Given the description of an element on the screen output the (x, y) to click on. 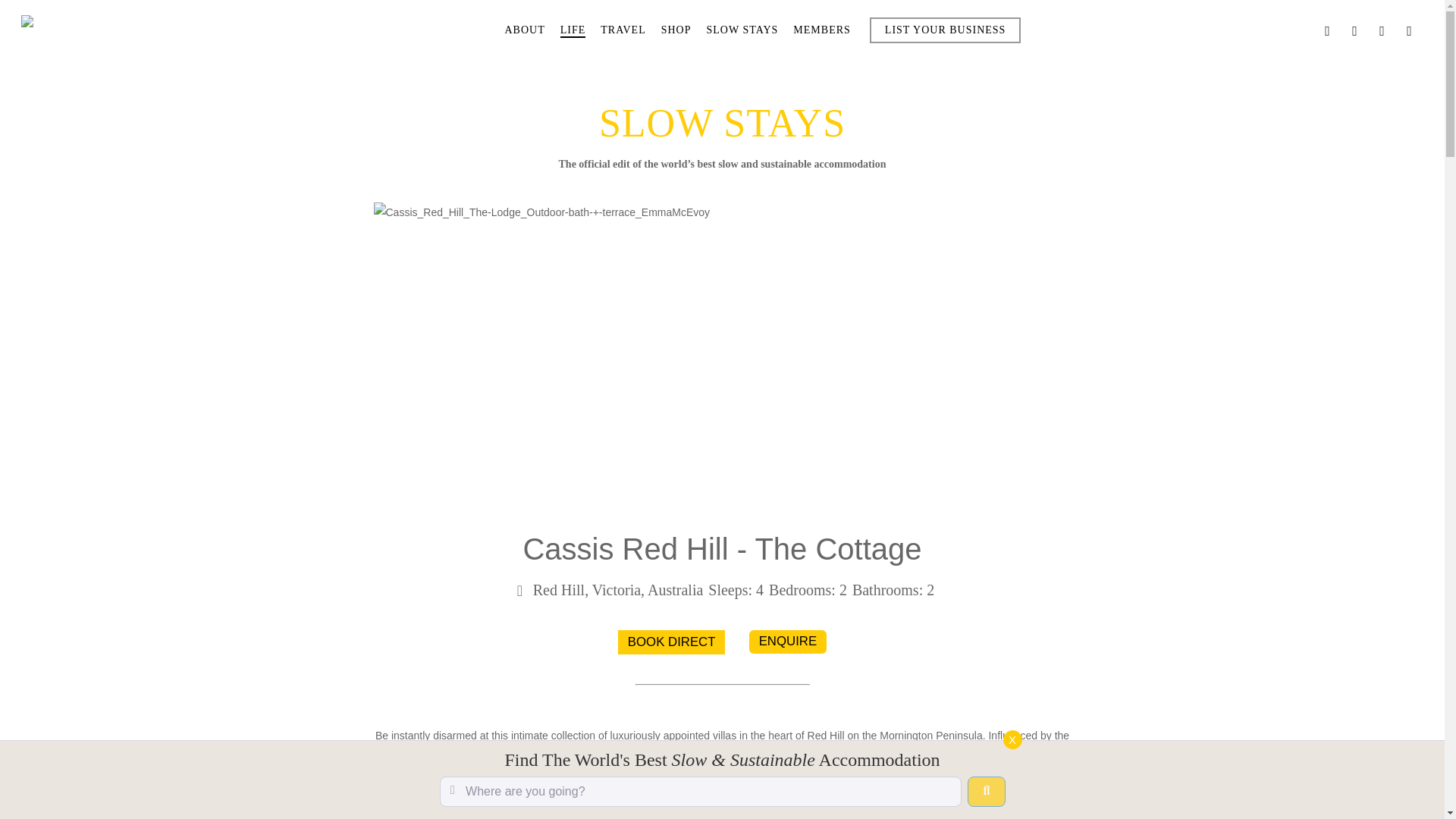
TRAVEL (622, 29)
LIFE (573, 29)
SLOW STAYS (742, 29)
SHOP (676, 29)
ABOUT (523, 29)
